Given the description of an element on the screen output the (x, y) to click on. 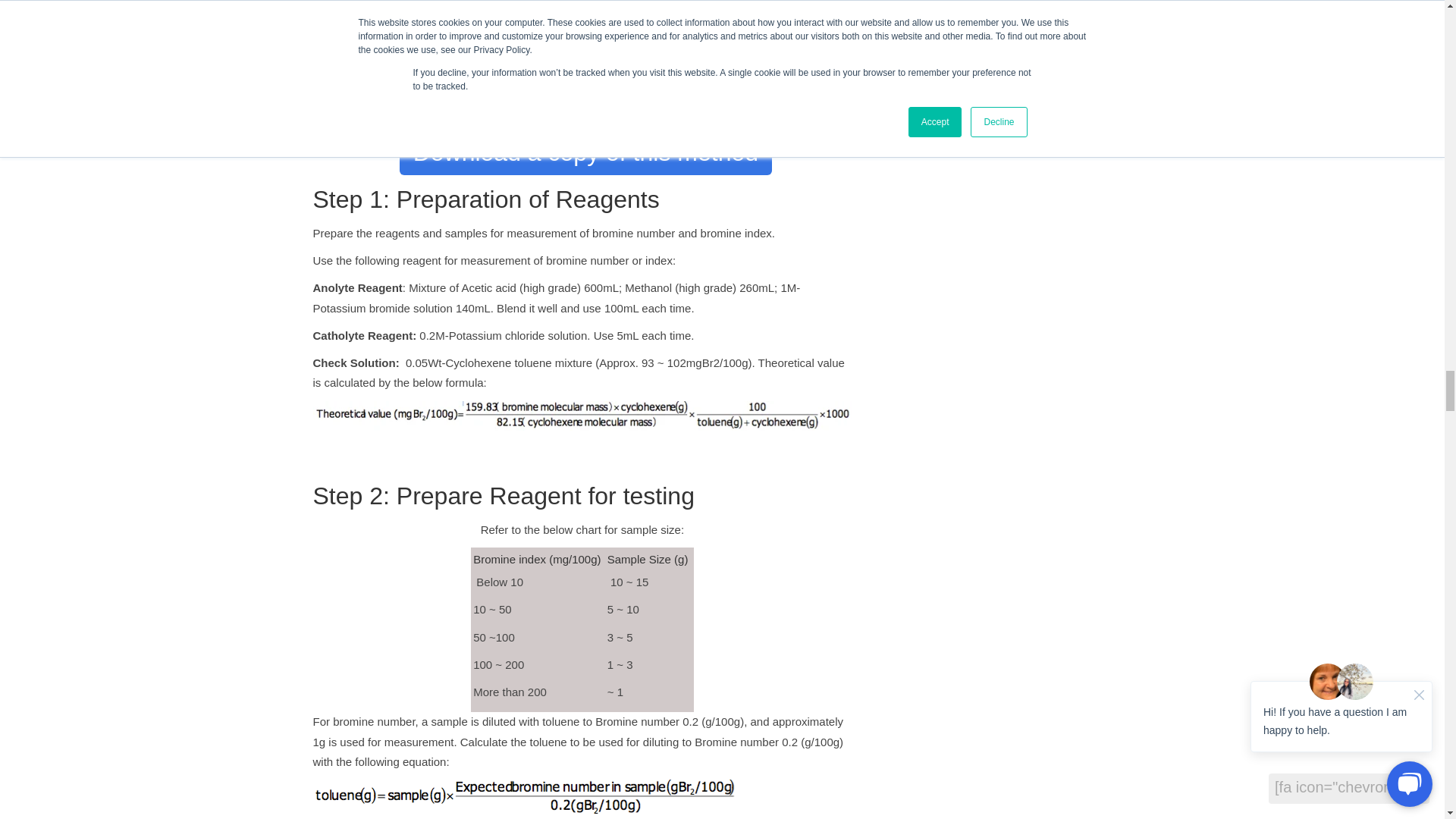
Page 70 (582, 326)
Page 70 (582, 340)
Download a copy of this method (584, 152)
